Given the description of an element on the screen output the (x, y) to click on. 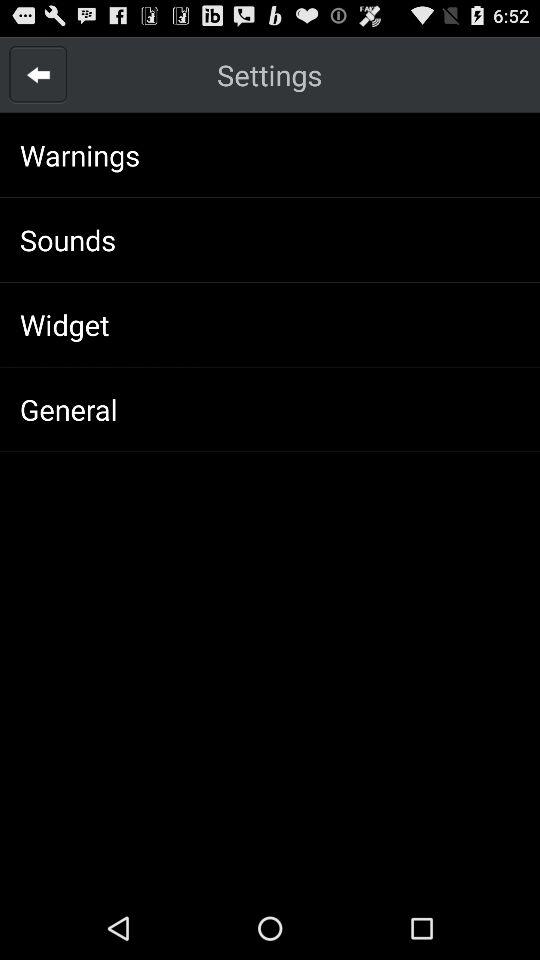
open app to the left of settings app (38, 74)
